Given the description of an element on the screen output the (x, y) to click on. 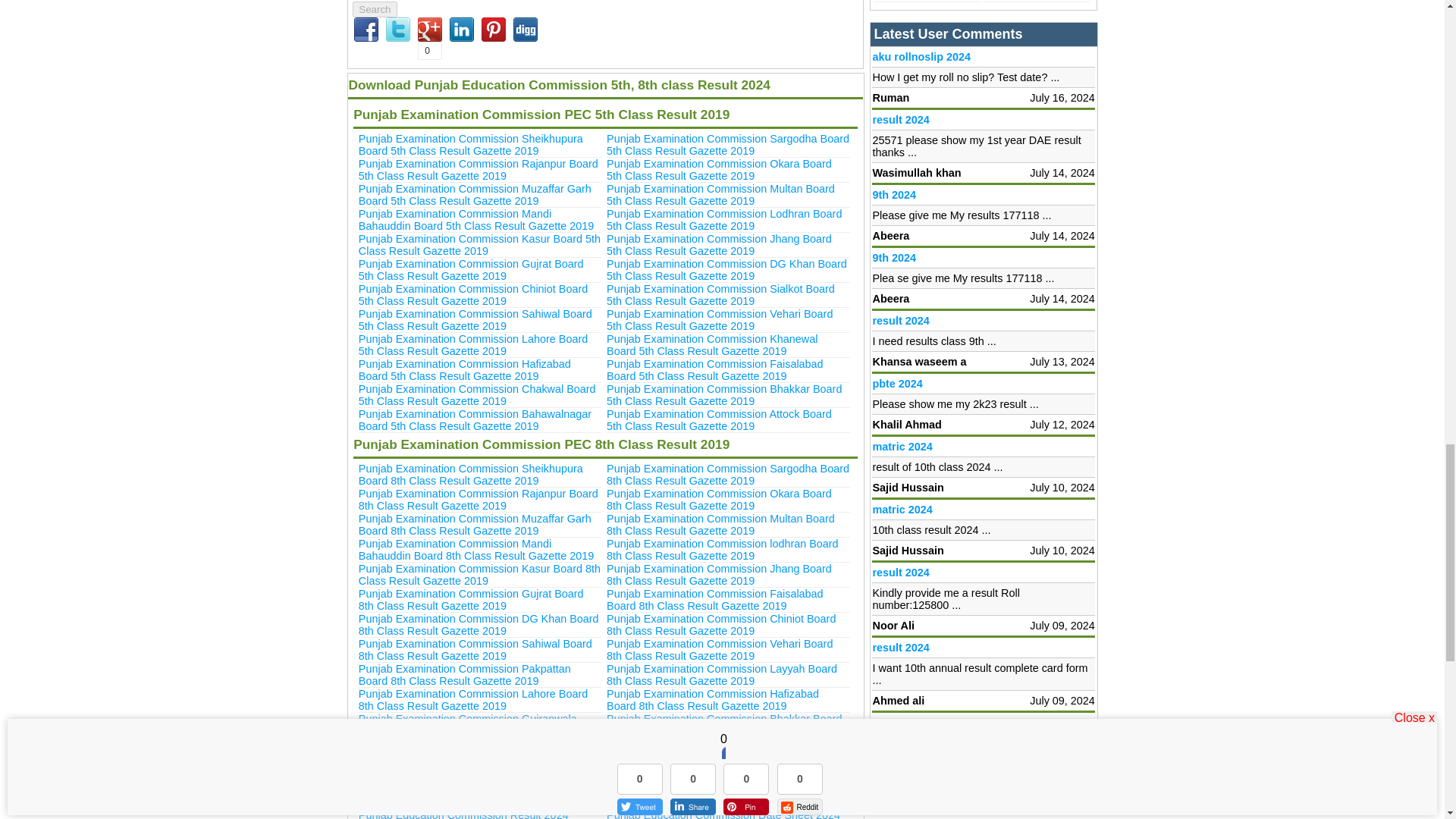
PEC Kasur Board 5th Class Result 2019 (478, 244)
PEC Sheikhupura Board 5th Class Result 2019 (470, 144)
PEC Okara Board 5th Class Result 2019 (719, 169)
PEC Jhang Board 5th Class Result 2019 (719, 244)
PEC Rajanpur Board 5th Class Result 2019 (478, 169)
PEC Sargodha Board 5th Class Result 2019 (727, 144)
PEC Mandi Bahauddin Board 5th Class Result 2019 (476, 219)
PEC Gujrat Board 5th Class Result 2019 (470, 269)
PEC Multan Board 5th Class Result 2019 (720, 194)
PEC Lodhran Board 5th Class Result 2019 (724, 219)
PEC Muzaffar Garh Board 5th Class Result 2019 (474, 194)
